Given the description of an element on the screen output the (x, y) to click on. 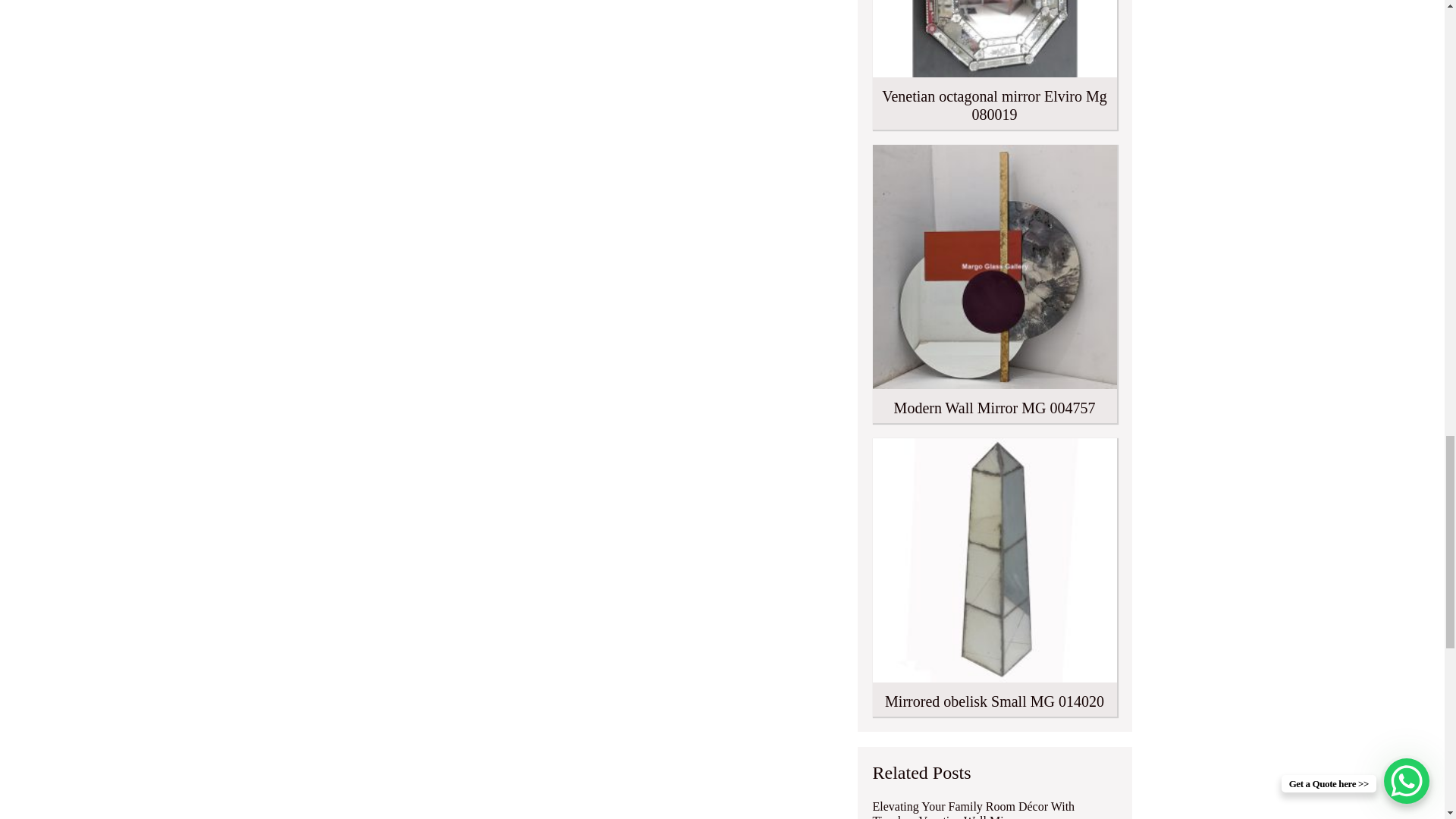
Venetian octagonal mirror Elviro Mg 080019 (994, 64)
